Given the description of an element on the screen output the (x, y) to click on. 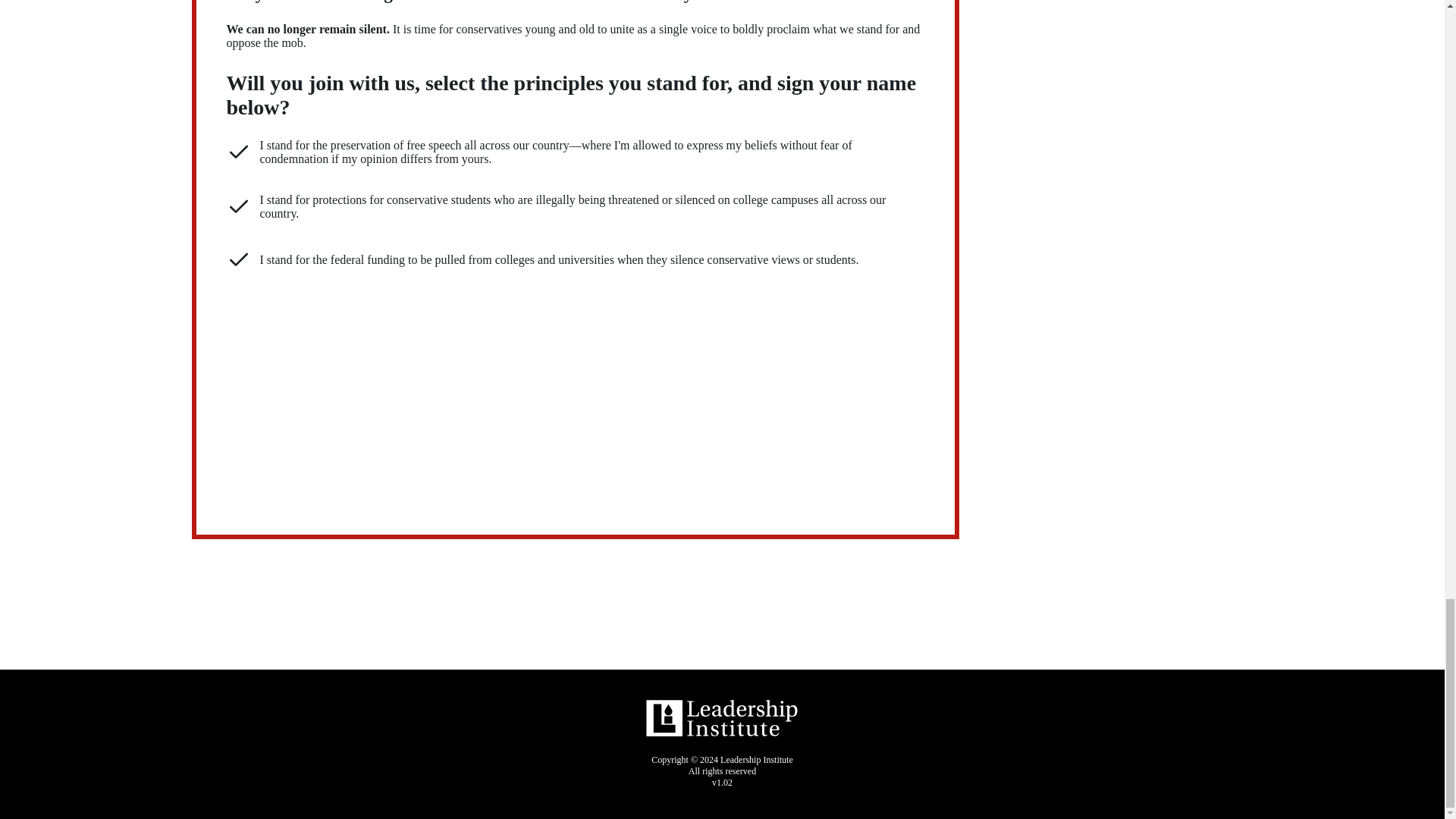
Form 0 (574, 391)
